Given the description of an element on the screen output the (x, y) to click on. 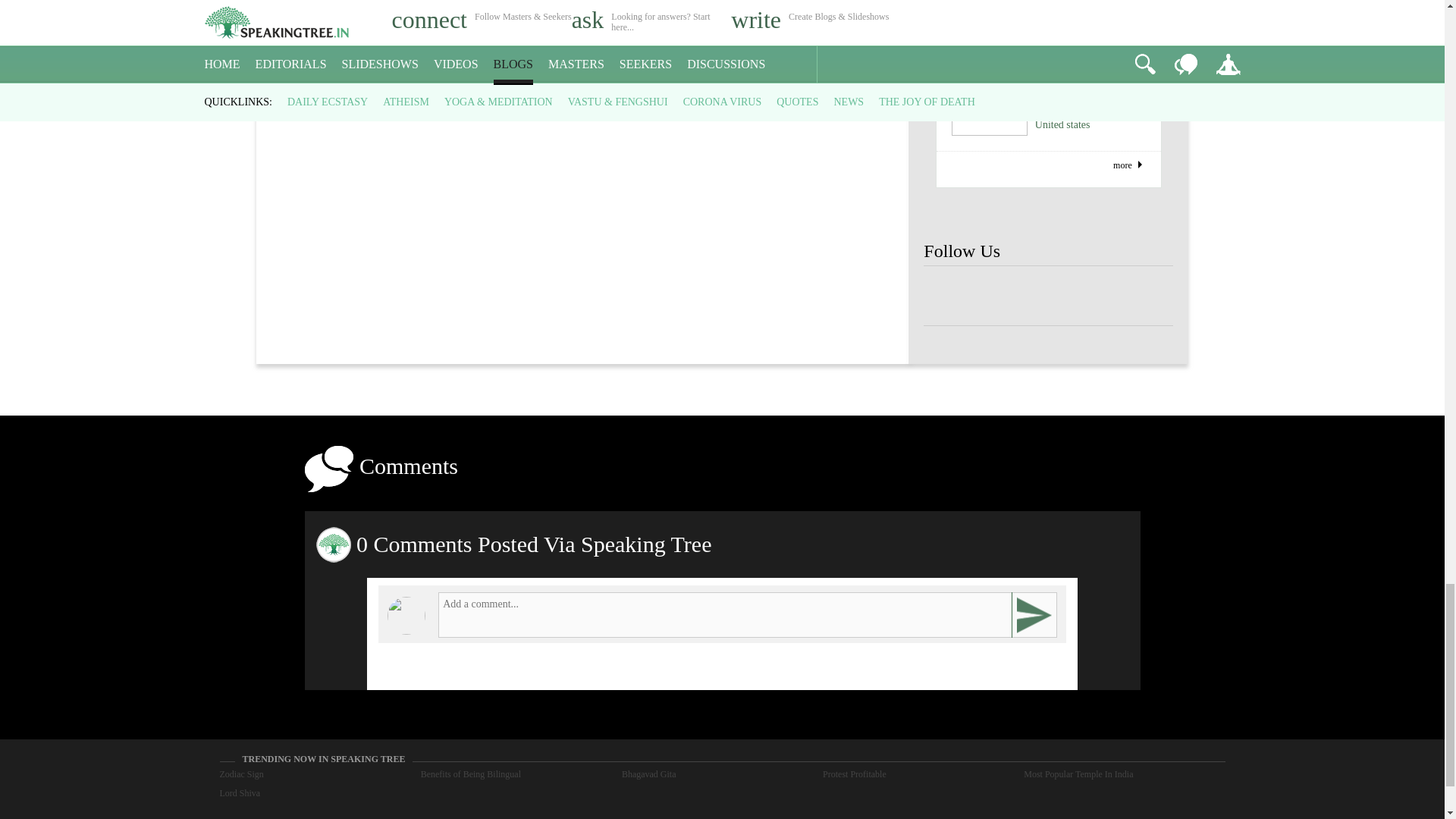
Speaking Tree FaceBook (998, 296)
Speaking Tree FaceBook (1147, 296)
Speaking Tree FaceBook (1048, 296)
Speaking Tree FaceBook (948, 296)
Speaking Tree FaceBook (1099, 296)
